Given the description of an element on the screen output the (x, y) to click on. 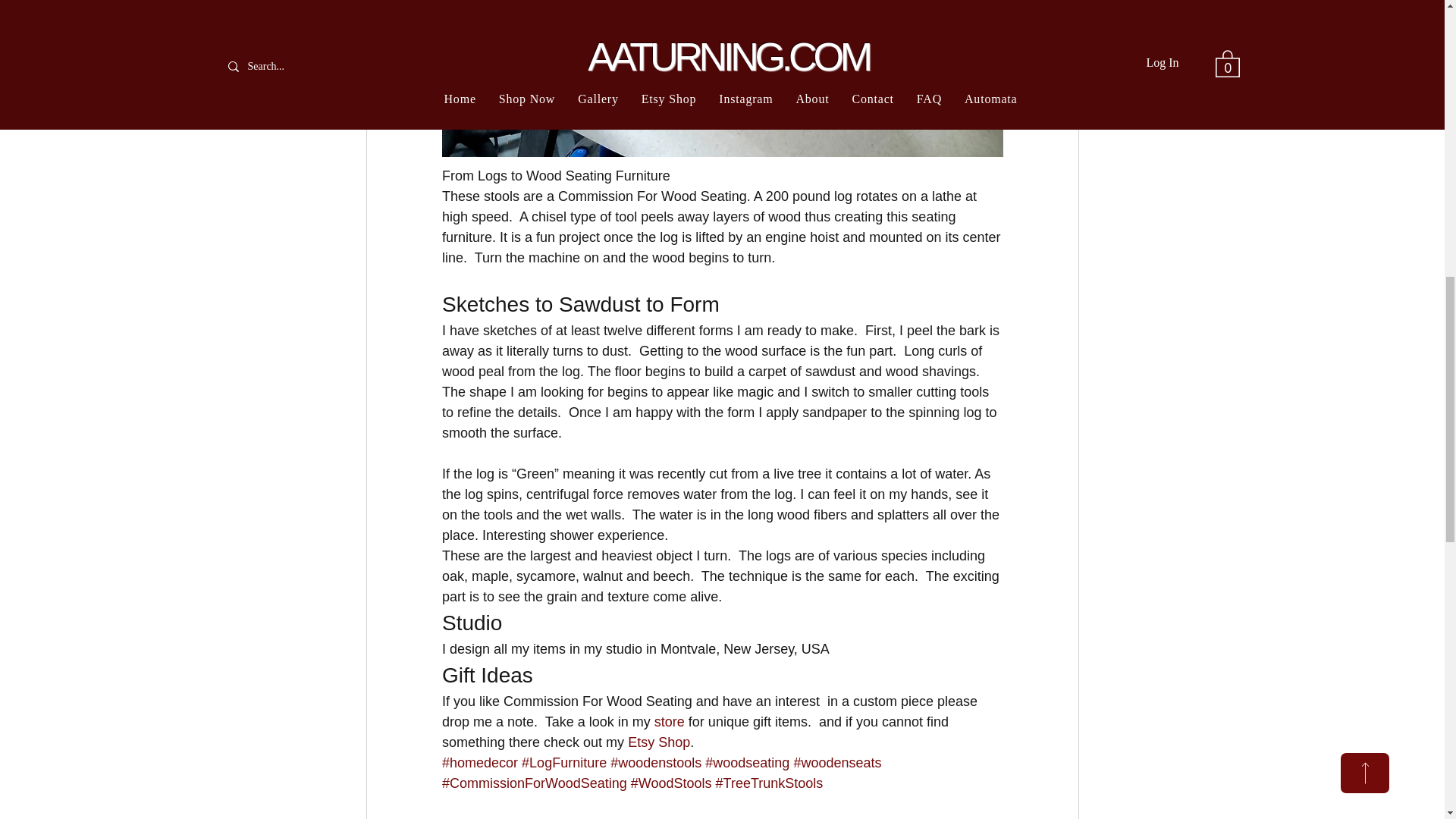
store (668, 721)
Etsy Shop (658, 742)
